Given the description of an element on the screen output the (x, y) to click on. 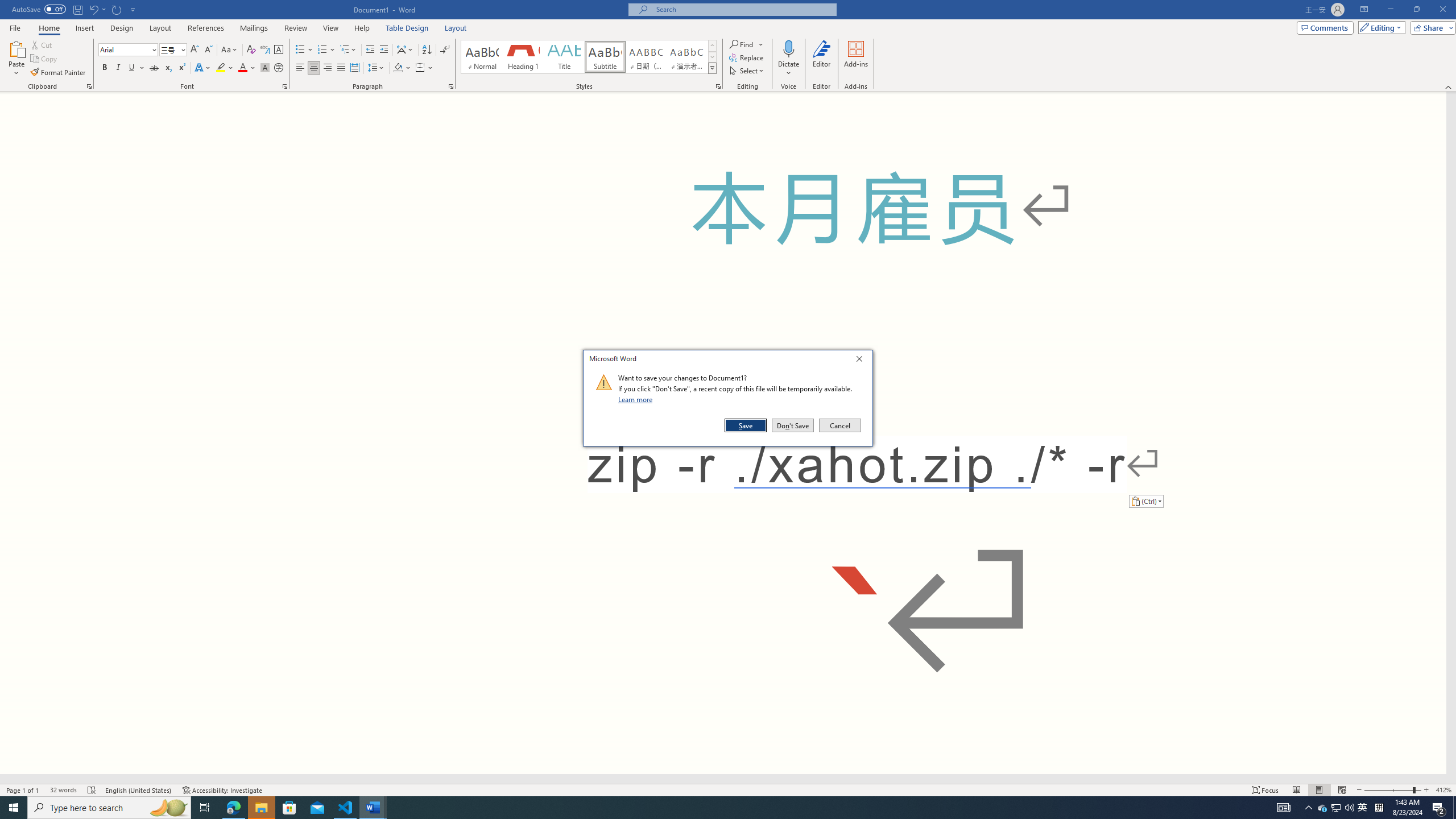
Word - 2 running windows (373, 807)
Visual Studio Code - 1 running window (345, 807)
Running applications (700, 807)
Shrink Font (1335, 807)
Undo Paste (208, 49)
